Given the description of an element on the screen output the (x, y) to click on. 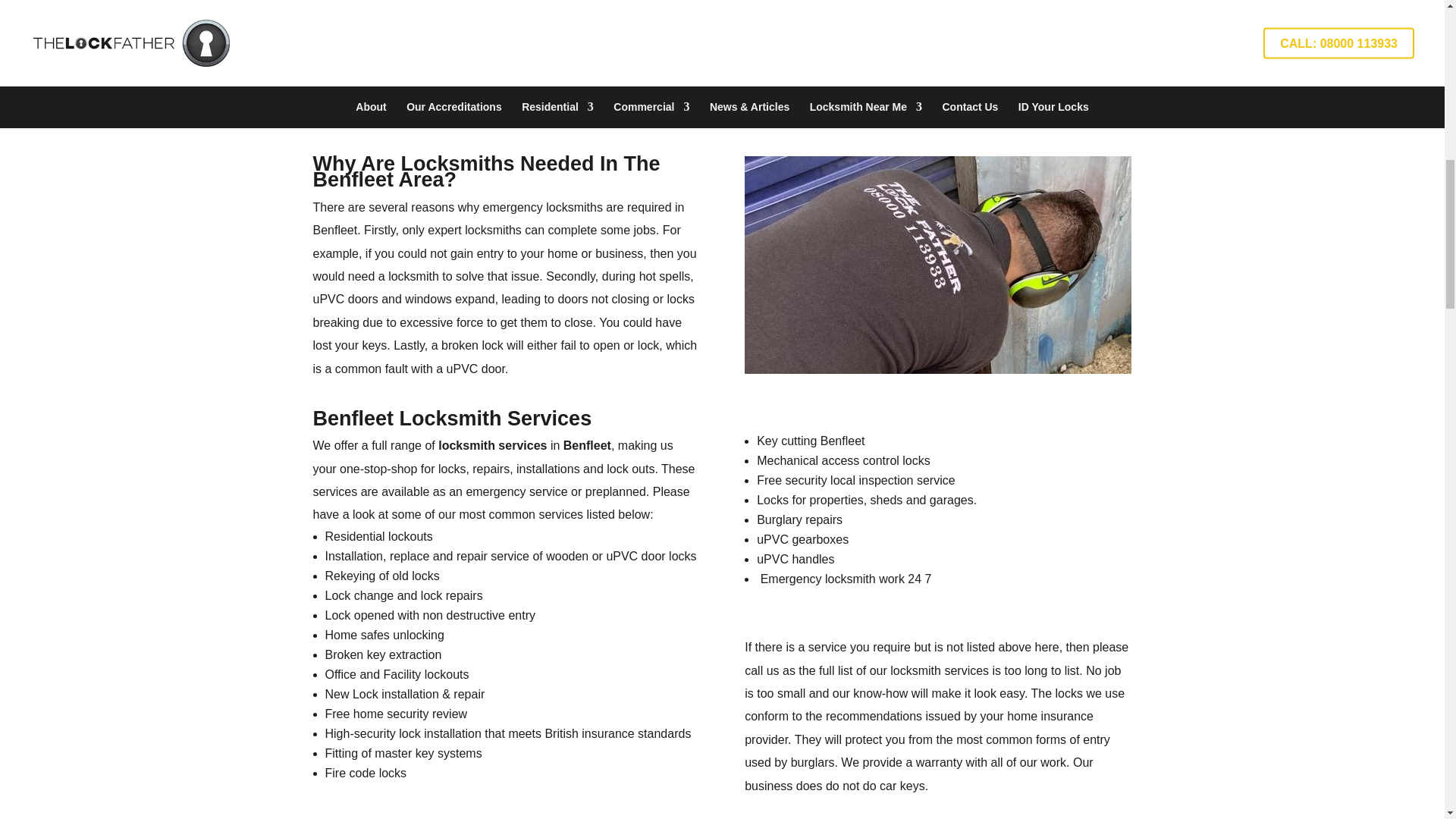
services is too long to list (1010, 670)
emergency locksmiths (542, 206)
emergency-benfleet-locksmiths (937, 264)
business (619, 253)
locksmith (914, 670)
